Given the description of an element on the screen output the (x, y) to click on. 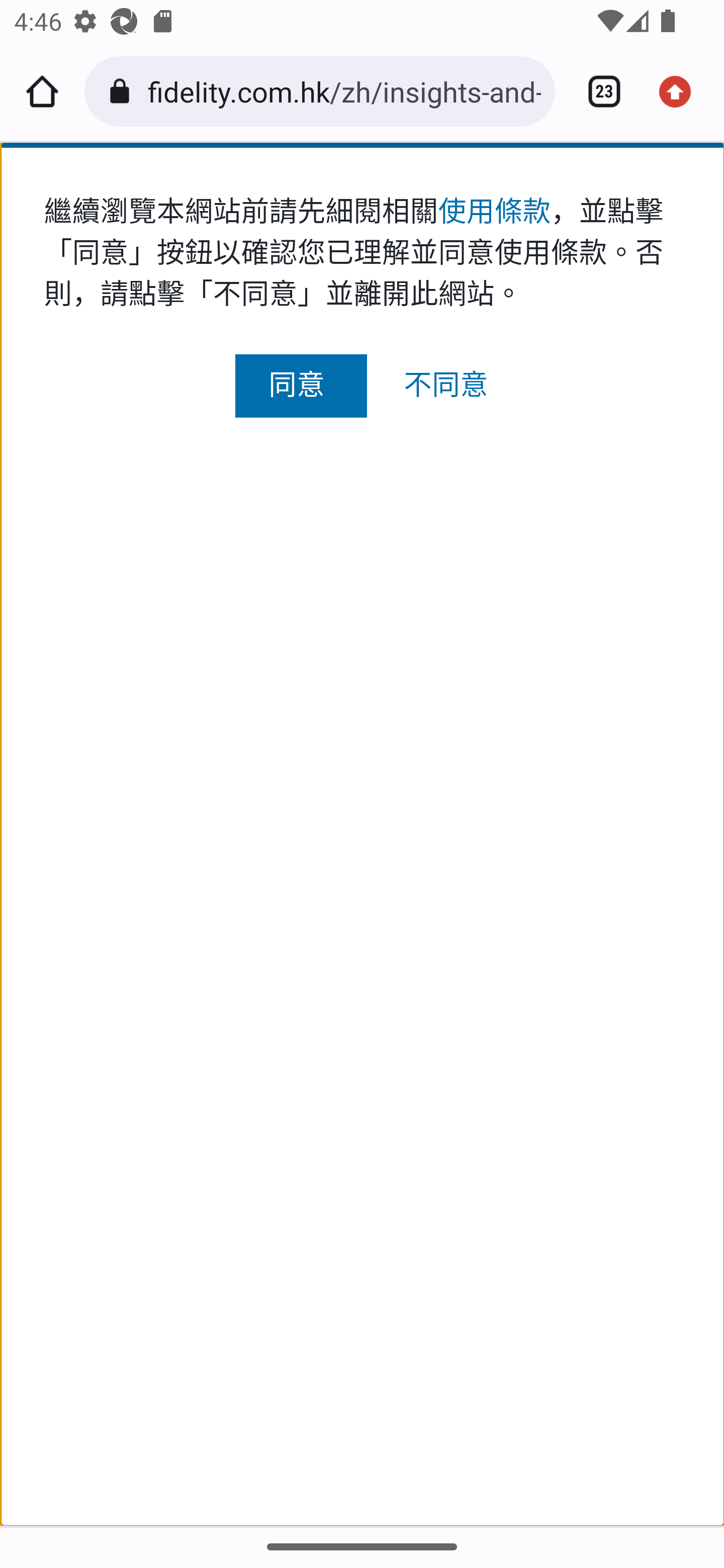
Home (42, 91)
Connection is secure (122, 91)
Switch or close tabs (597, 91)
Update available. More options (681, 91)
使用條款 (494, 211)
